Given the description of an element on the screen output the (x, y) to click on. 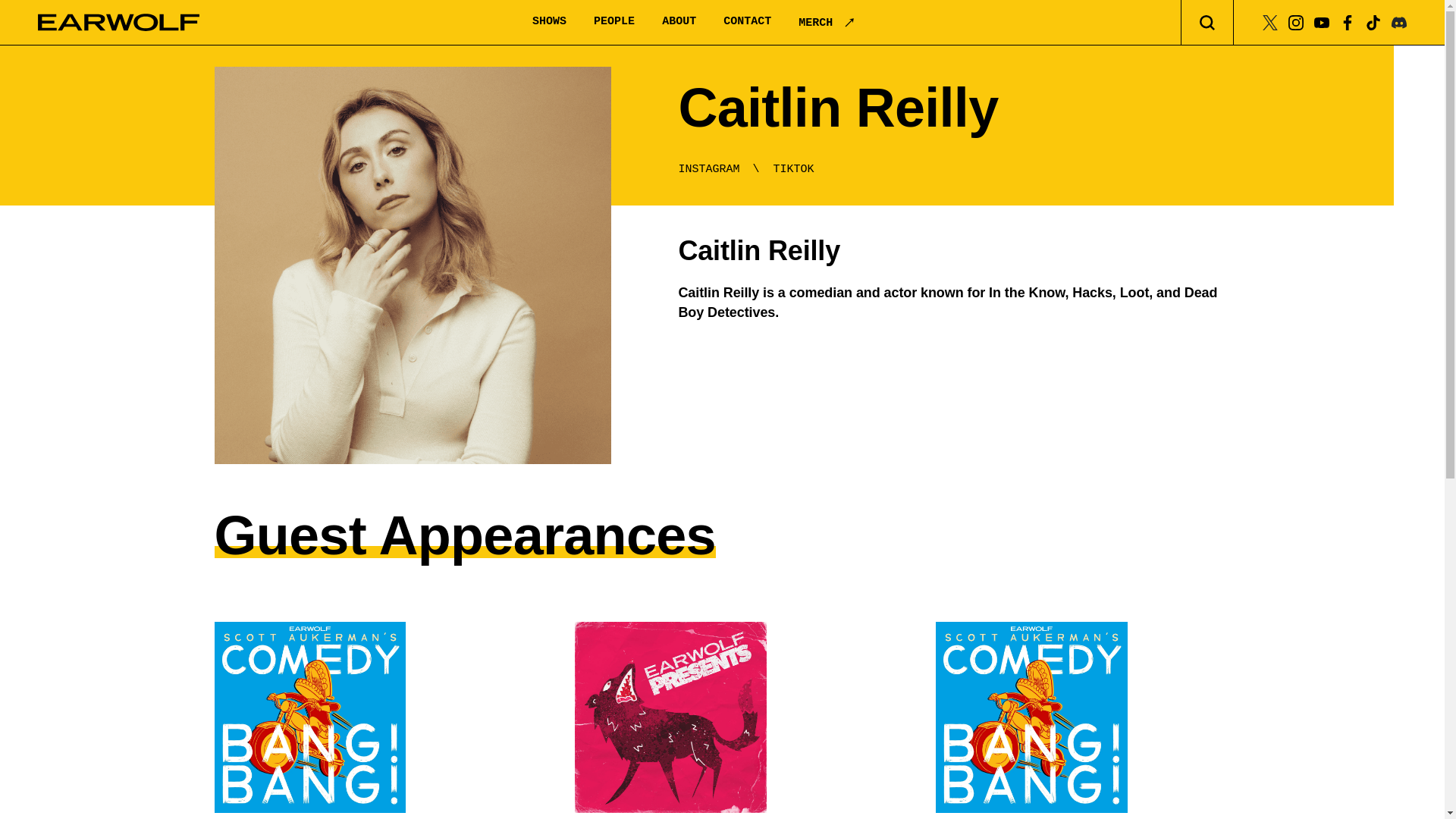
Toggle Search (1206, 22)
Instagram (1295, 21)
ABOUT (678, 21)
Tiktok (1372, 21)
INSTAGRAM (708, 169)
YouTube (1321, 21)
Facebook (1347, 21)
CONTACT (747, 21)
PEOPLE (614, 21)
Earwolf (118, 22)
SHOWS (549, 21)
TIKTOK (793, 169)
